Given the description of an element on the screen output the (x, y) to click on. 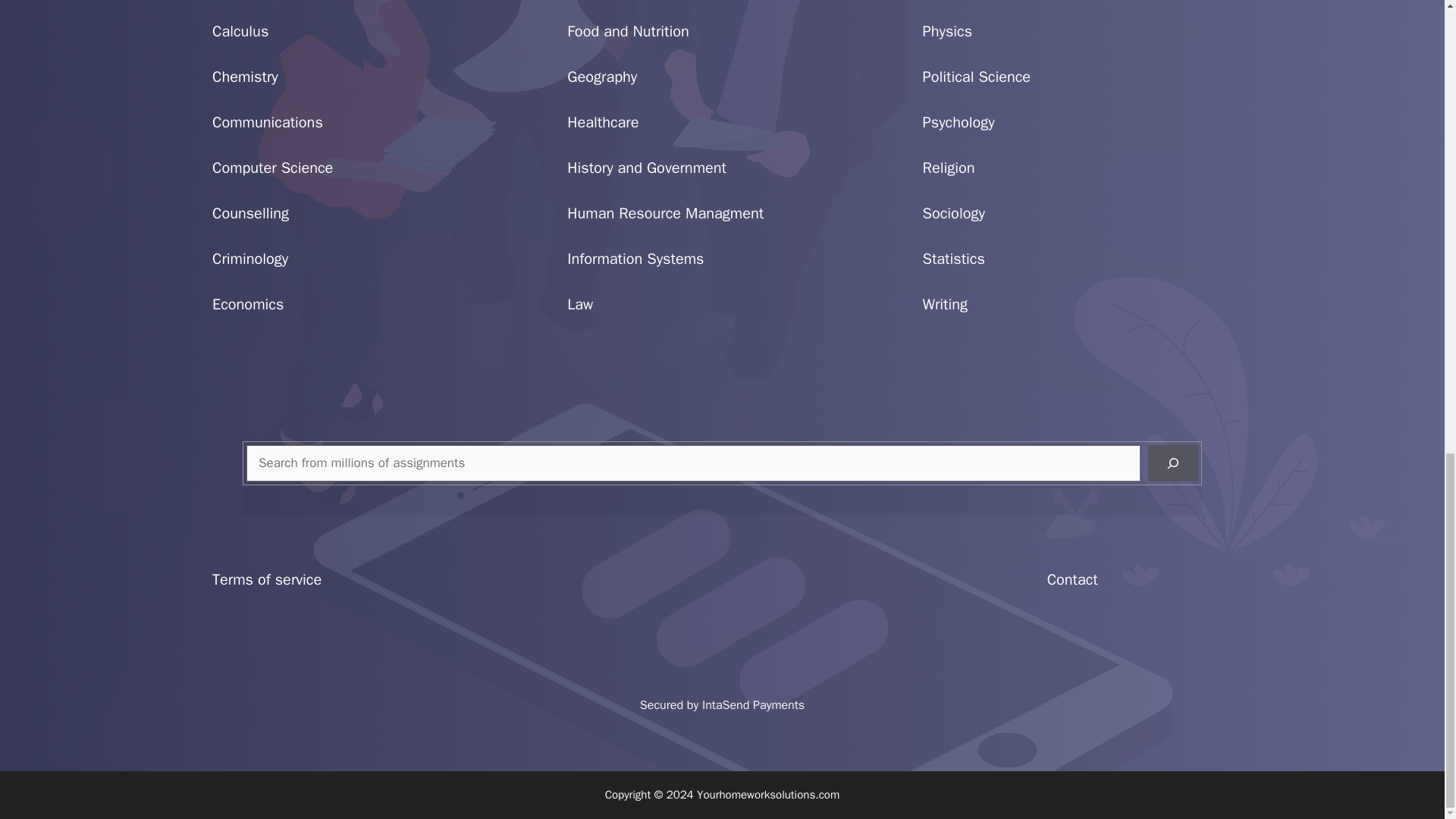
Political Science (976, 76)
Calculus (239, 31)
Scroll back to top (1406, 517)
Food and Nutrition (627, 31)
Criminology (250, 258)
Chemistry (245, 76)
Communications (267, 122)
Counselling (250, 212)
Computer Science (272, 167)
Economics (247, 303)
Information Systems (635, 258)
